Given the description of an element on the screen output the (x, y) to click on. 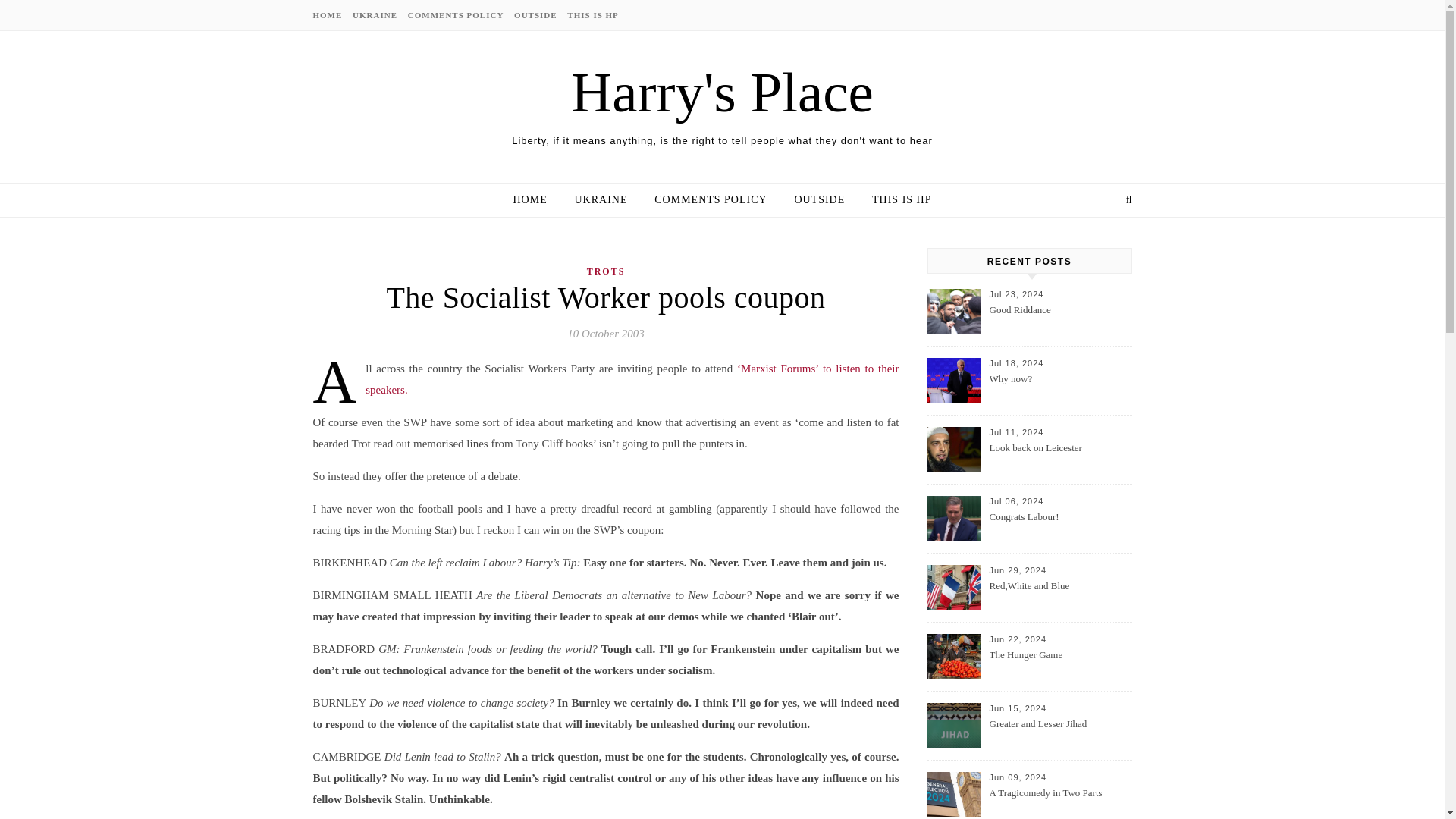
OUTSIDE (819, 200)
Congrats Labour! (1058, 525)
Why now? (1058, 388)
Greater and Lesser Jihad (1058, 733)
UKRAINE (600, 200)
The Hunger Game (1058, 664)
HOME (535, 200)
A Tragicomedy in Two Parts (1058, 801)
Harry's Place (721, 91)
OUTSIDE (535, 15)
UKRAINE (375, 15)
COMMENTS POLICY (456, 15)
Look back on Leicester (1058, 457)
Good Riddance (1058, 319)
TROTS (606, 271)
